Given the description of an element on the screen output the (x, y) to click on. 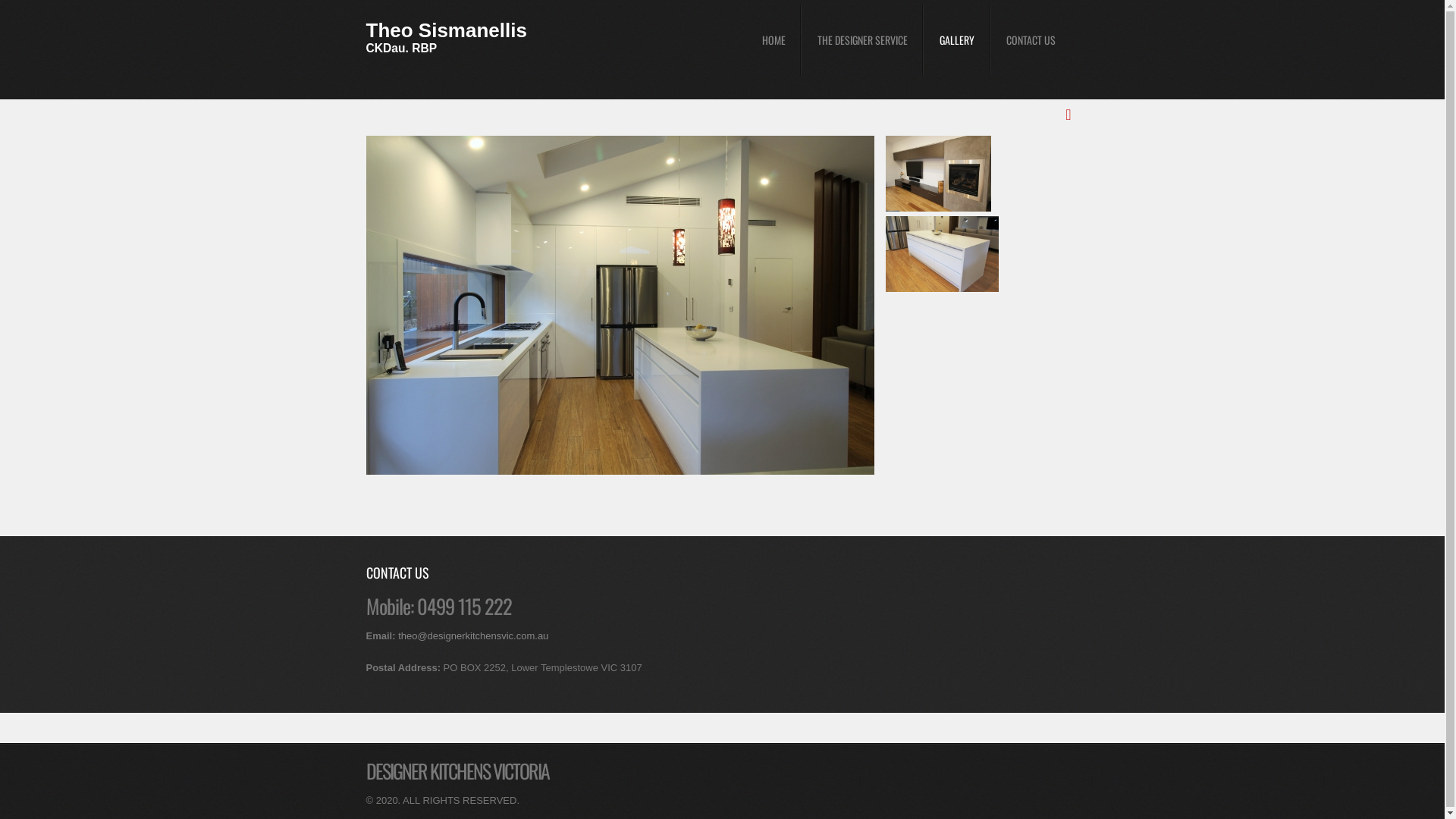
CONTACT US Element type: text (1030, 40)
HOME Element type: text (773, 40)
Daz-Doncaster East Element type: hover (942, 288)
GALLERY Element type: text (956, 40)
Daz-Doncaster East Element type: hover (619, 470)
THE DESIGNER SERVICE Element type: text (861, 40)
Daz-Doncaster East Element type: hover (938, 207)
